Given the description of an element on the screen output the (x, y) to click on. 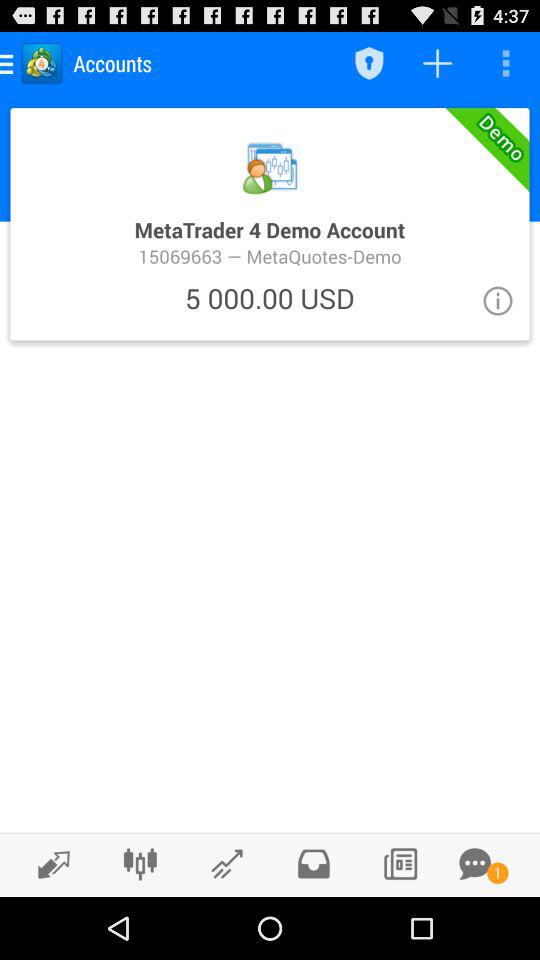
check messages (313, 863)
